Given the description of an element on the screen output the (x, y) to click on. 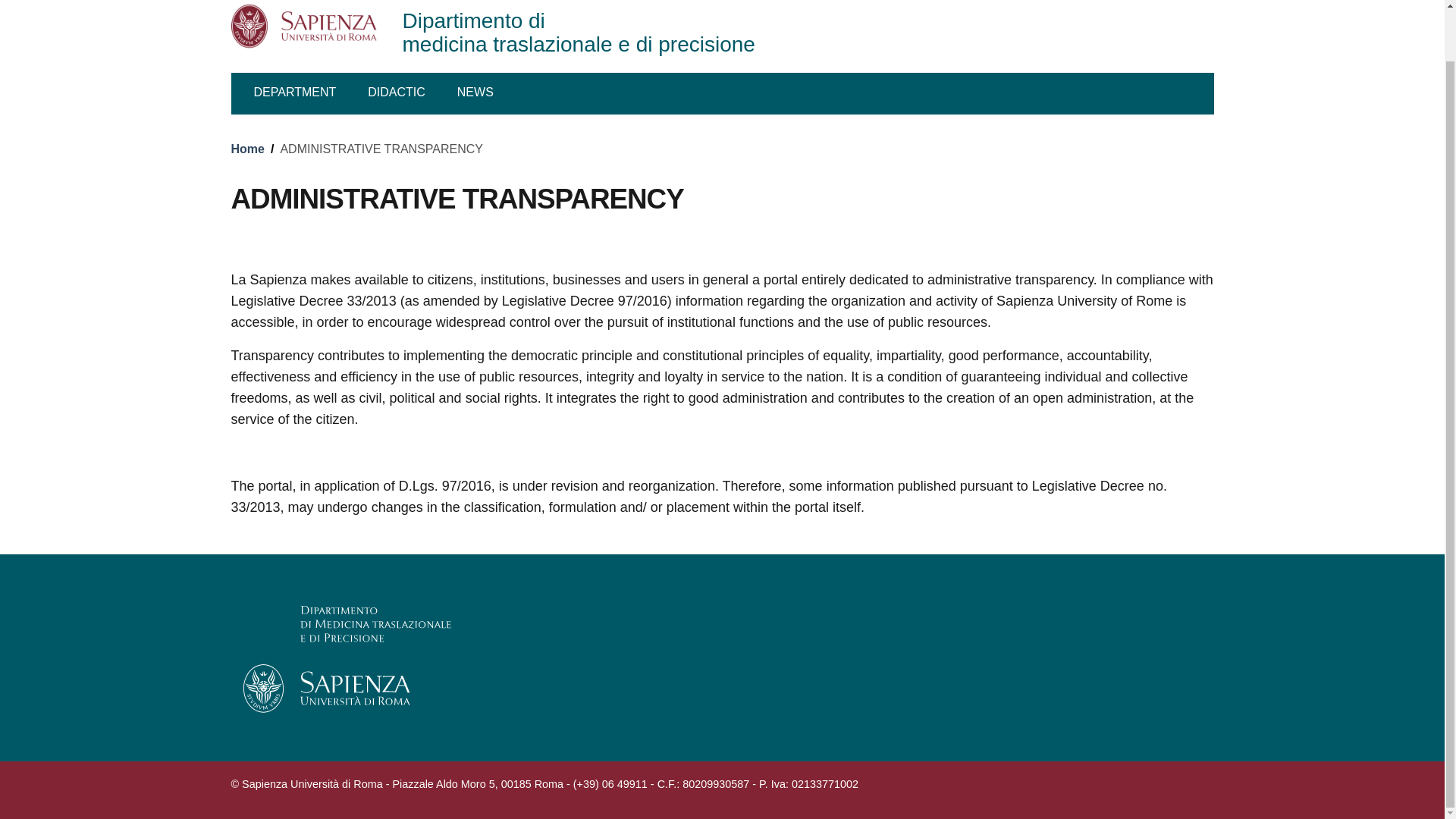
Home (246, 148)
Home (587, 29)
DEPARTMENT (301, 93)
NEWS (475, 93)
DIDACTIC (587, 29)
